Given the description of an element on the screen output the (x, y) to click on. 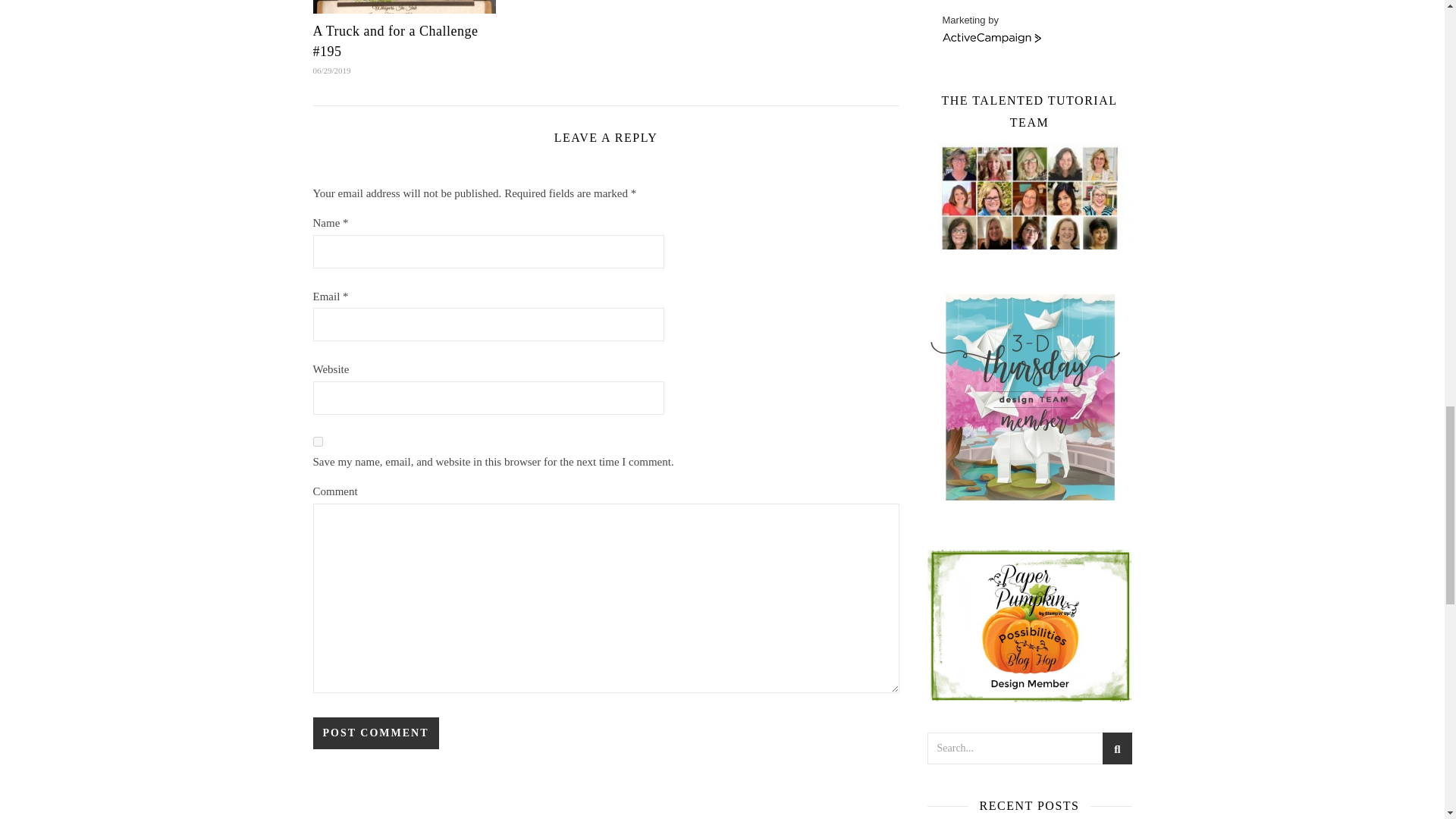
Post Comment (375, 733)
yes (317, 441)
ActiveCampaign (991, 38)
Post Comment (375, 733)
